Given the description of an element on the screen output the (x, y) to click on. 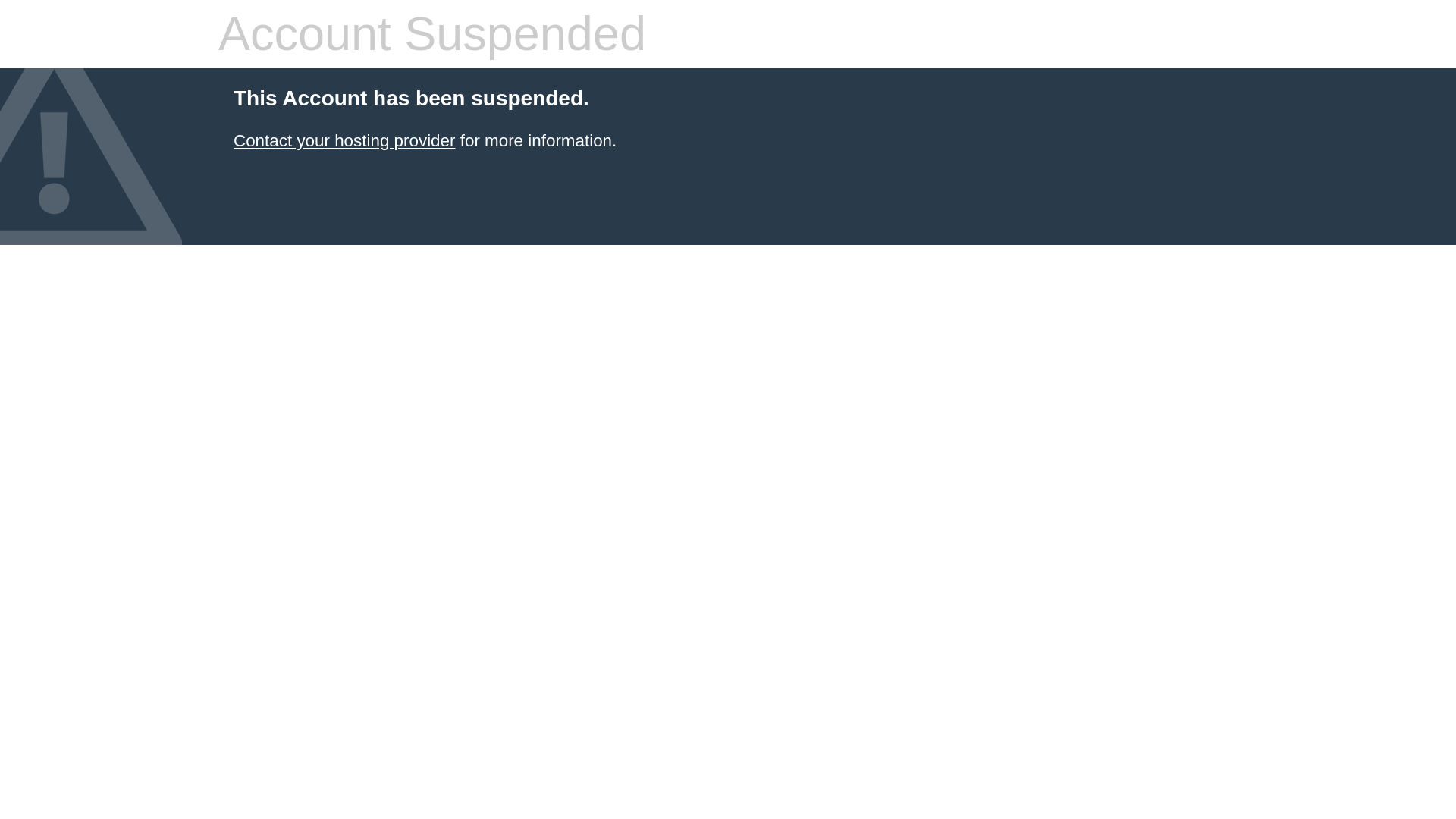
Contact your hosting provider (343, 140)
